Given the description of an element on the screen output the (x, y) to click on. 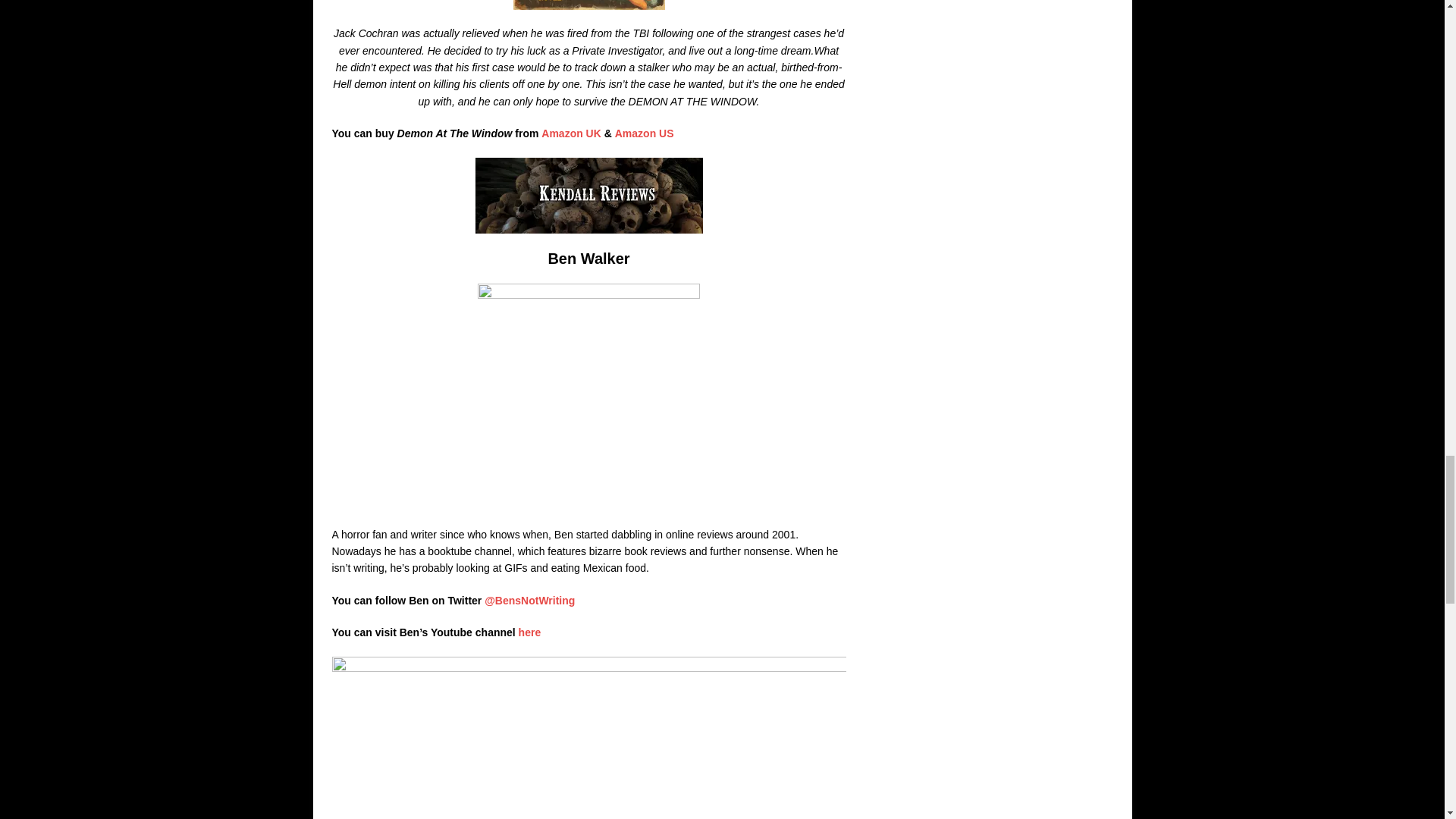
Amazon UK (572, 133)
Amazon US (644, 133)
here (529, 632)
